Given the description of an element on the screen output the (x, y) to click on. 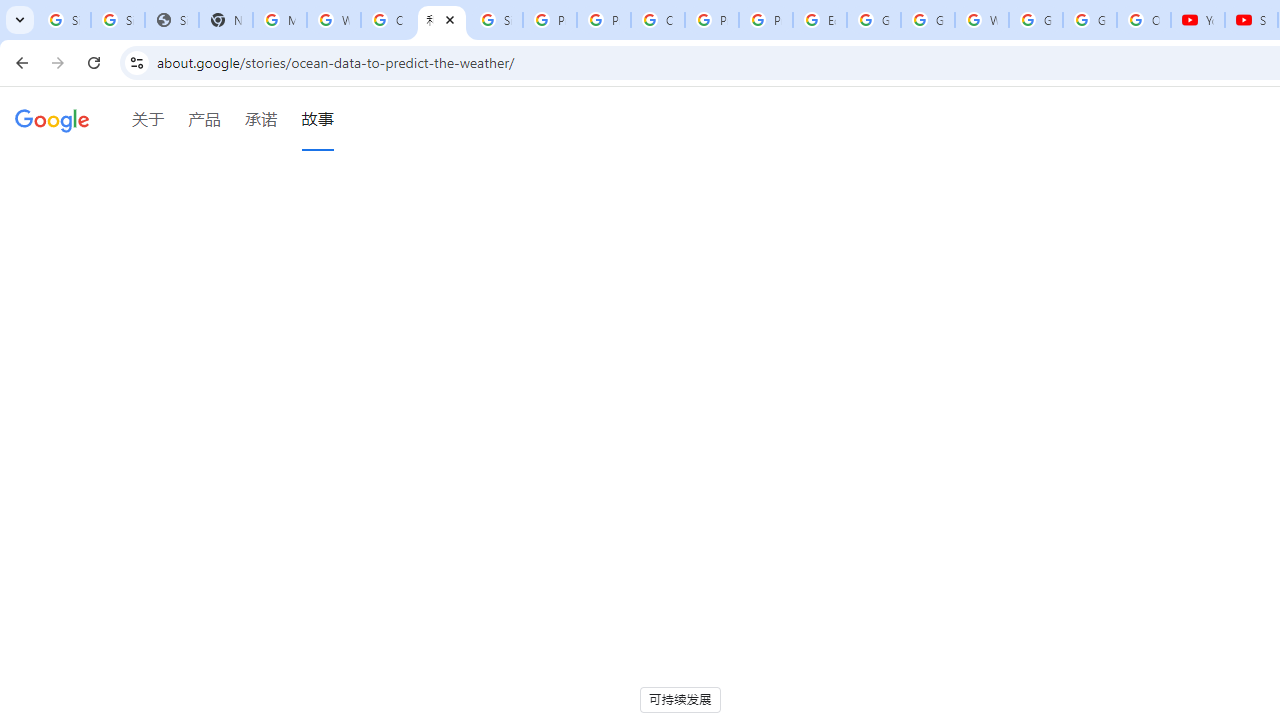
Sign In - USA TODAY (171, 20)
New Tab (225, 20)
Welcome to My Activity (981, 20)
Edit and view right-to-left text - Google Docs Editors Help (819, 20)
Google Slides: Sign-in (874, 20)
